Given the description of an element on the screen output the (x, y) to click on. 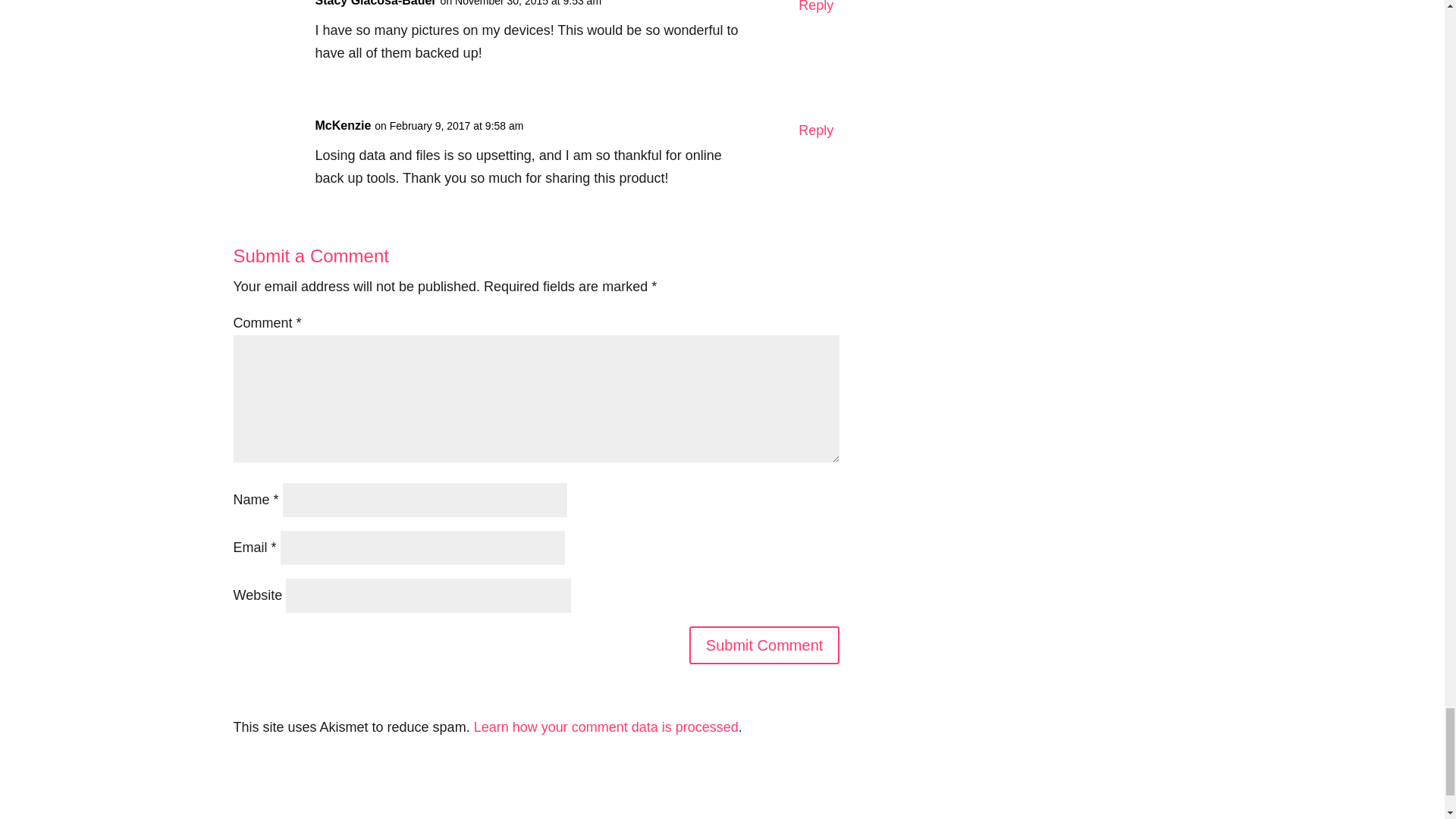
Submit Comment (764, 645)
